Given the description of an element on the screen output the (x, y) to click on. 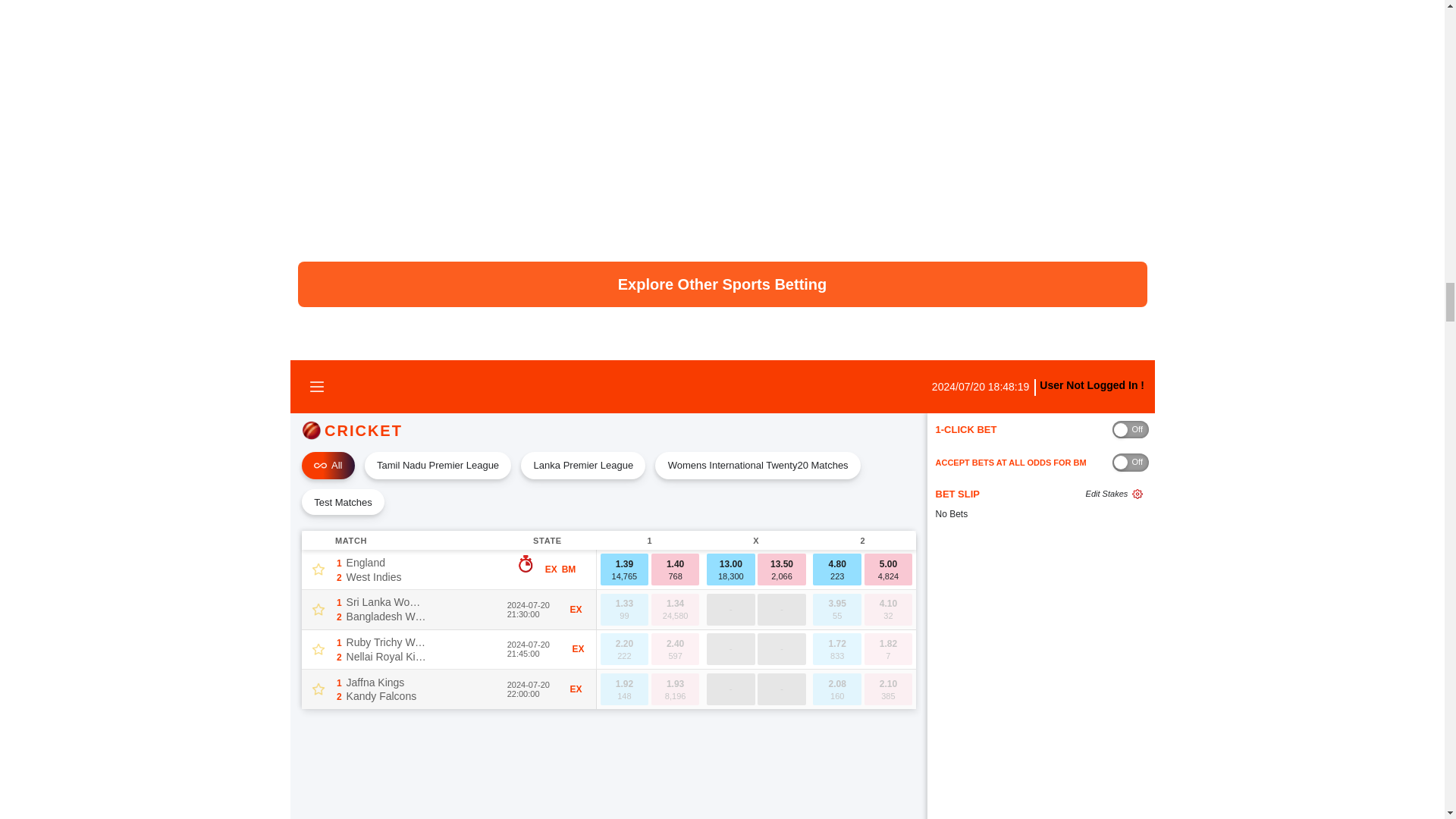
Explore Other Sports Betting (722, 284)
